Given the description of an element on the screen output the (x, y) to click on. 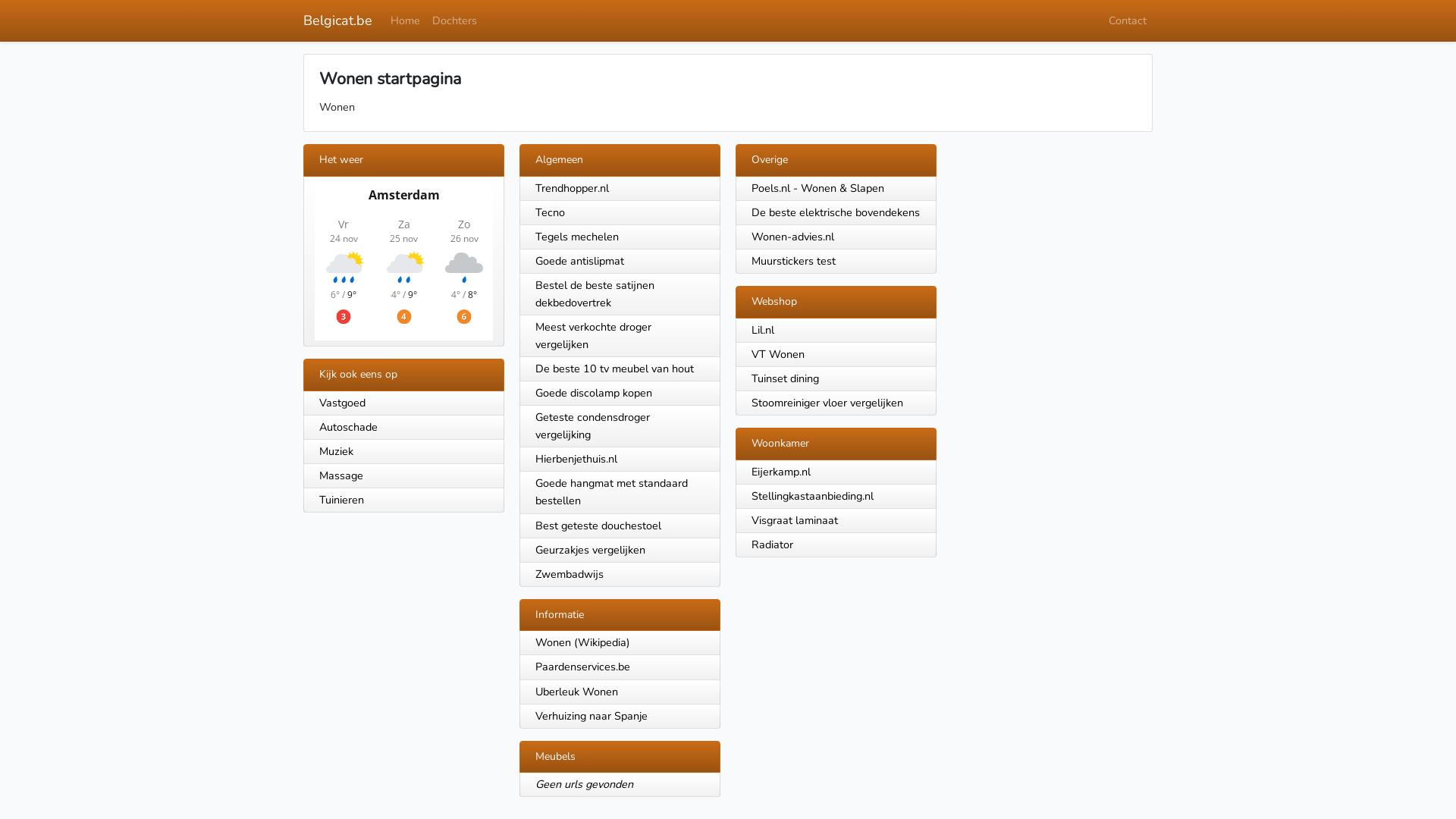
Hierbenjethuis.nl Element type: text (576, 458)
Uberleuk Wonen Element type: text (576, 691)
Radiator Element type: text (772, 544)
Lil.nl Element type: text (762, 329)
Geteste condensdroger vergelijking Element type: text (592, 425)
Belgicat.be Element type: text (337, 20)
Wonen (Wikipedia) Element type: text (582, 641)
Trendhopper.nl Element type: text (571, 187)
De beste elektrische bovendekens Element type: text (835, 211)
VT Wonen Element type: text (777, 353)
Goede discolamp kopen Element type: text (593, 392)
Dochters Element type: text (454, 20)
Stoomreiniger vloer vergelijken Element type: text (827, 402)
Verhuizing naar Spanje Element type: text (591, 715)
Paardenservices.be Element type: text (582, 666)
Stellingkastaanbieding.nl Element type: text (812, 495)
De beste 10 tv meubel van hout Element type: text (614, 368)
Meest verkochte droger vergelijken Element type: text (593, 335)
Best geteste douchestoel Element type: text (598, 524)
Vastgoed Element type: text (403, 403)
Goede antislipmat Element type: text (579, 260)
Zwembadwijs Element type: text (569, 573)
Eijerkamp.nl Element type: text (780, 471)
Home Element type: text (405, 20)
Contact Element type: text (1127, 20)
Geurzakjes vergelijken Element type: text (590, 549)
Muziek Element type: text (403, 451)
Bestel de beste satijnen dekbedovertrek Element type: text (594, 293)
Massage Element type: text (403, 476)
Autoschade Element type: text (403, 427)
Tuinieren Element type: text (403, 500)
Wonen-advies.nl Element type: text (792, 236)
Tecno Element type: text (549, 211)
Visgraat laminaat Element type: text (794, 519)
Tegels mechelen Element type: text (576, 236)
Muurstickers test Element type: text (793, 260)
Goede hangmat met standaard bestellen Element type: text (611, 491)
Tuinset dining Element type: text (785, 377)
Poels.nl - Wonen & Slapen Element type: text (817, 187)
